Given the description of an element on the screen output the (x, y) to click on. 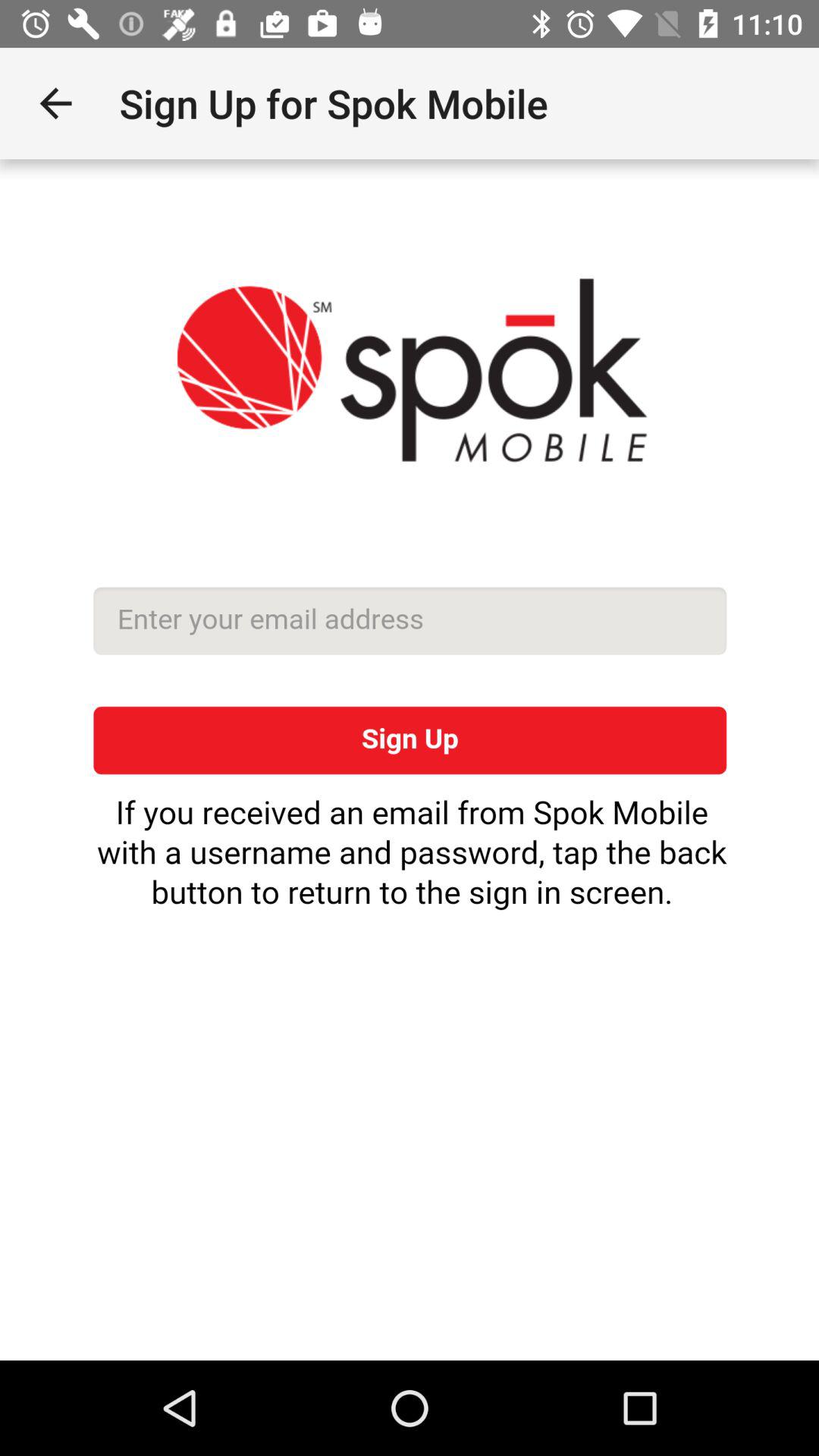
login or sign up (409, 759)
